Given the description of an element on the screen output the (x, y) to click on. 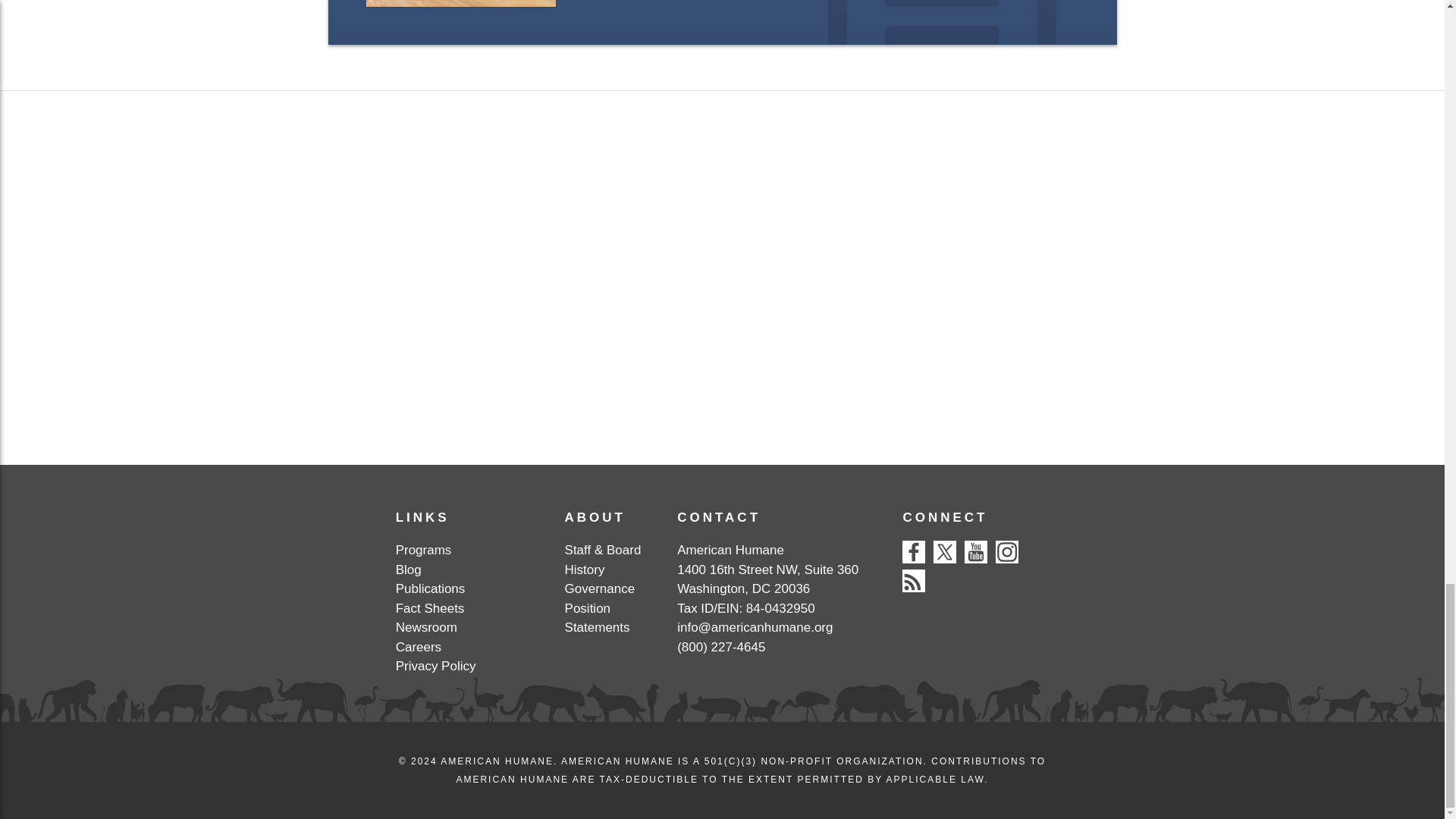
History (584, 569)
Blog (409, 569)
Careers (418, 646)
Programs (423, 549)
Privacy Policy (436, 666)
Newsroom (426, 626)
Governance (599, 588)
Publications (430, 588)
Fact Sheets (430, 608)
